Given the description of an element on the screen output the (x, y) to click on. 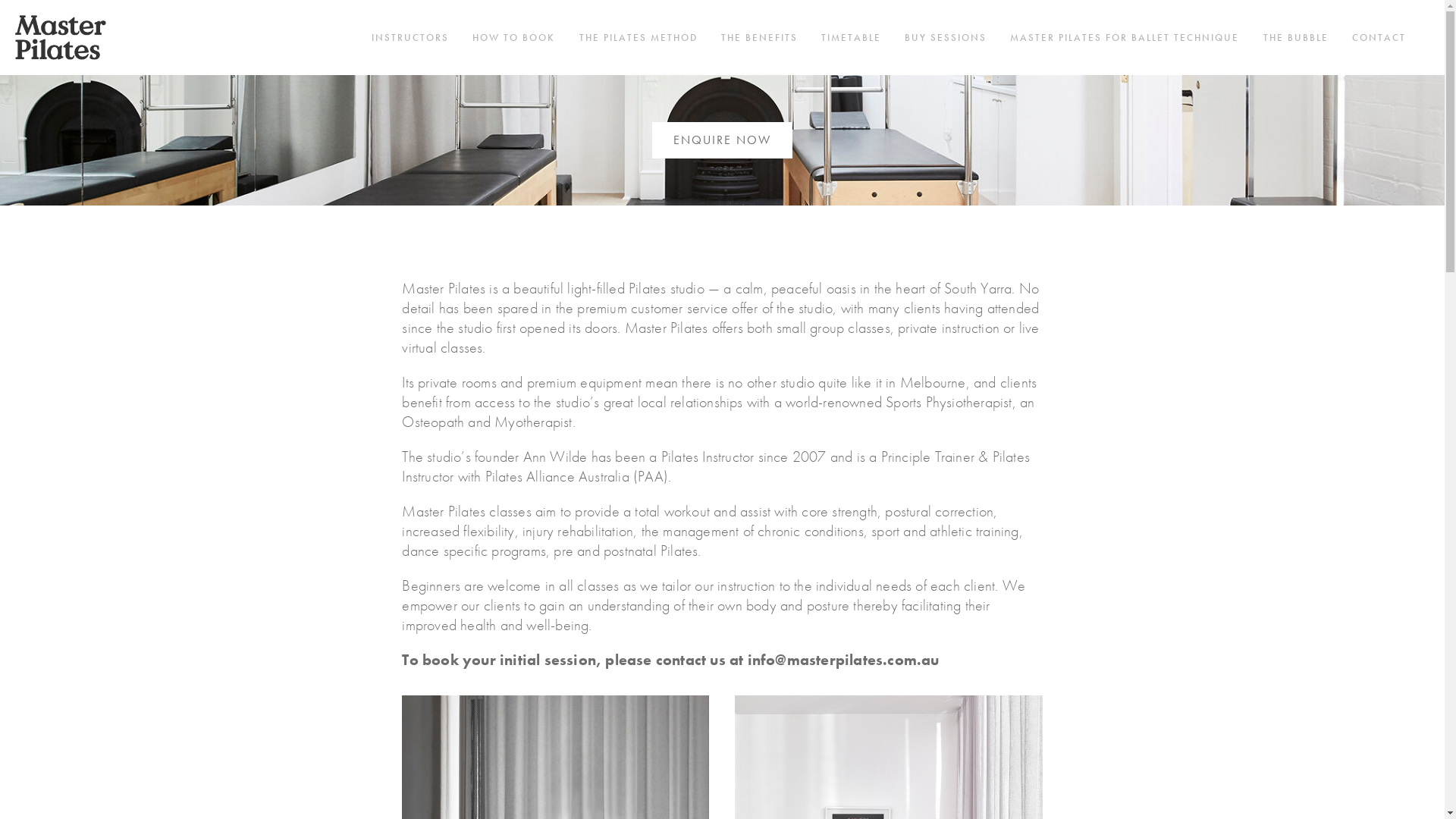
info@masterpilates.com.au Element type: text (843, 659)
ENQUIRE NOW Element type: text (722, 140)
HOW TO BOOK Element type: text (513, 37)
MASTER PILATES FOR BALLET TECHNIQUE Element type: text (1124, 37)
CONTACT Element type: text (1378, 37)
TIMETABLE Element type: text (851, 37)
THE BUBBLE Element type: text (1295, 37)
THE BENEFITS Element type: text (759, 37)
INSTRUCTORS Element type: text (409, 37)
THE PILATES METHOD Element type: text (638, 37)
